Given the description of an element on the screen output the (x, y) to click on. 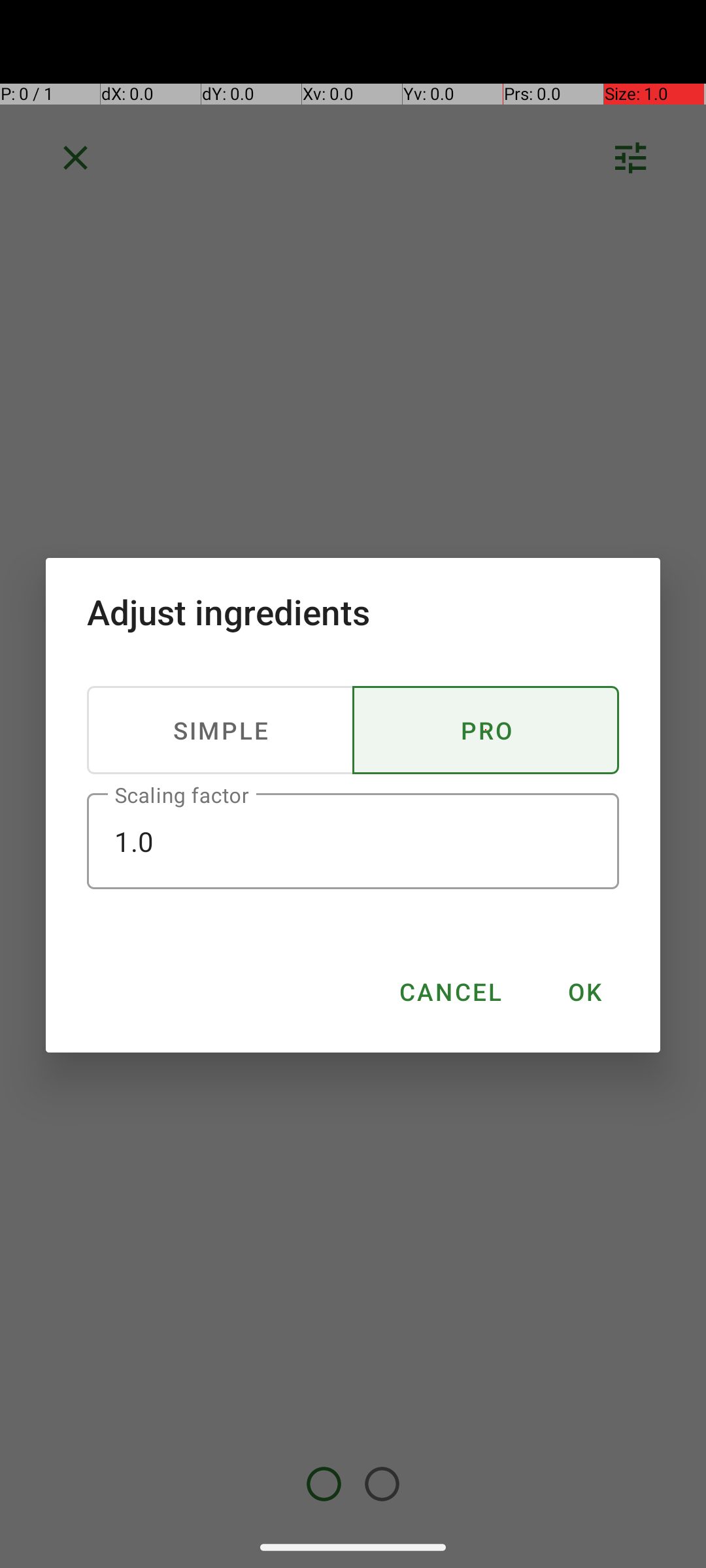
1.0 Element type: android.widget.EditText (352, 841)
